Given the description of an element on the screen output the (x, y) to click on. 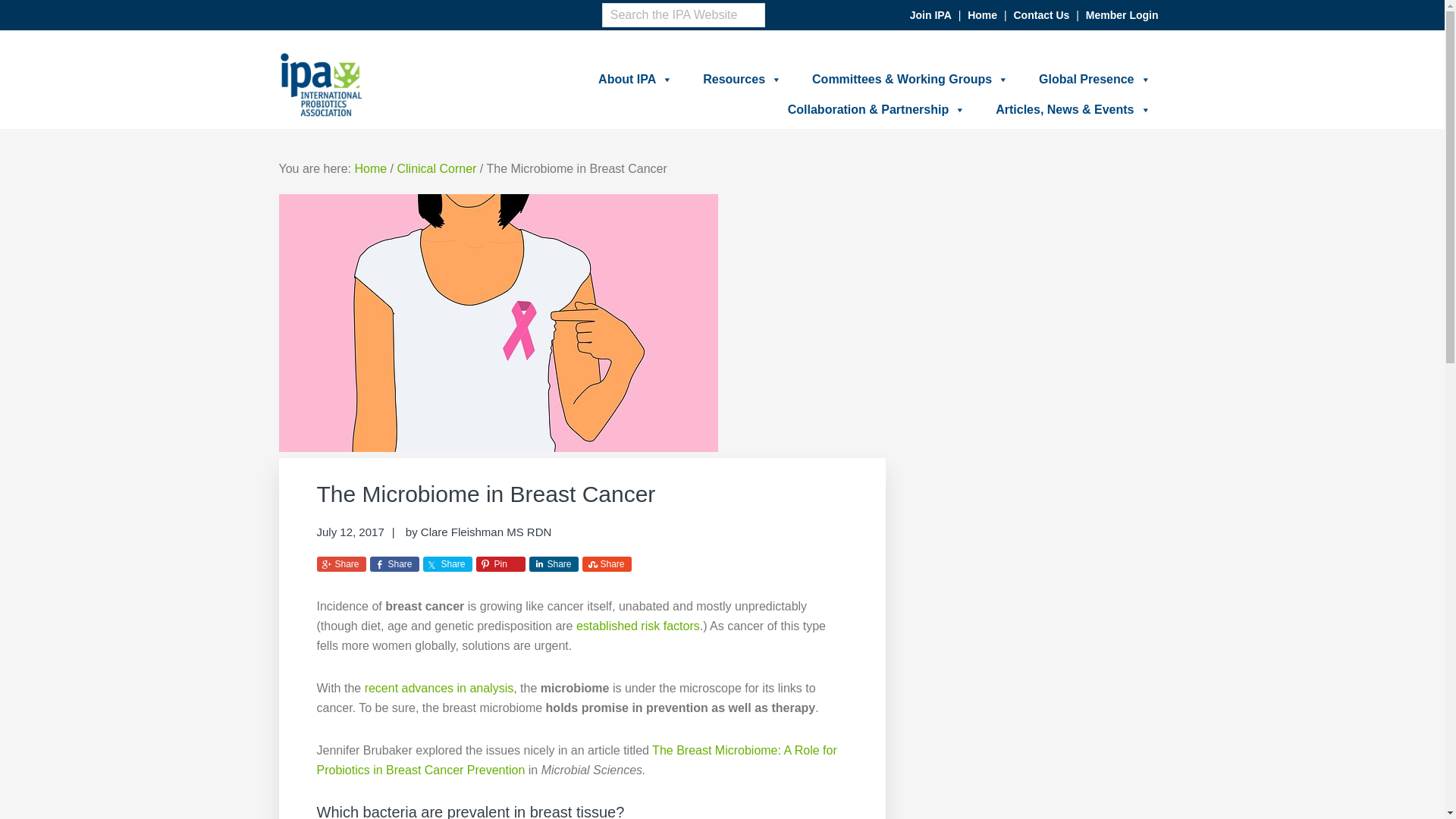
INTERNATIONAL PROBIOTICS ASSOCIATION (602, 135)
About IPA (635, 79)
Contact Us (1040, 15)
Search (749, 45)
Member Login (1122, 15)
Home (982, 15)
Resources (741, 79)
Join IPA (931, 15)
